Given the description of an element on the screen output the (x, y) to click on. 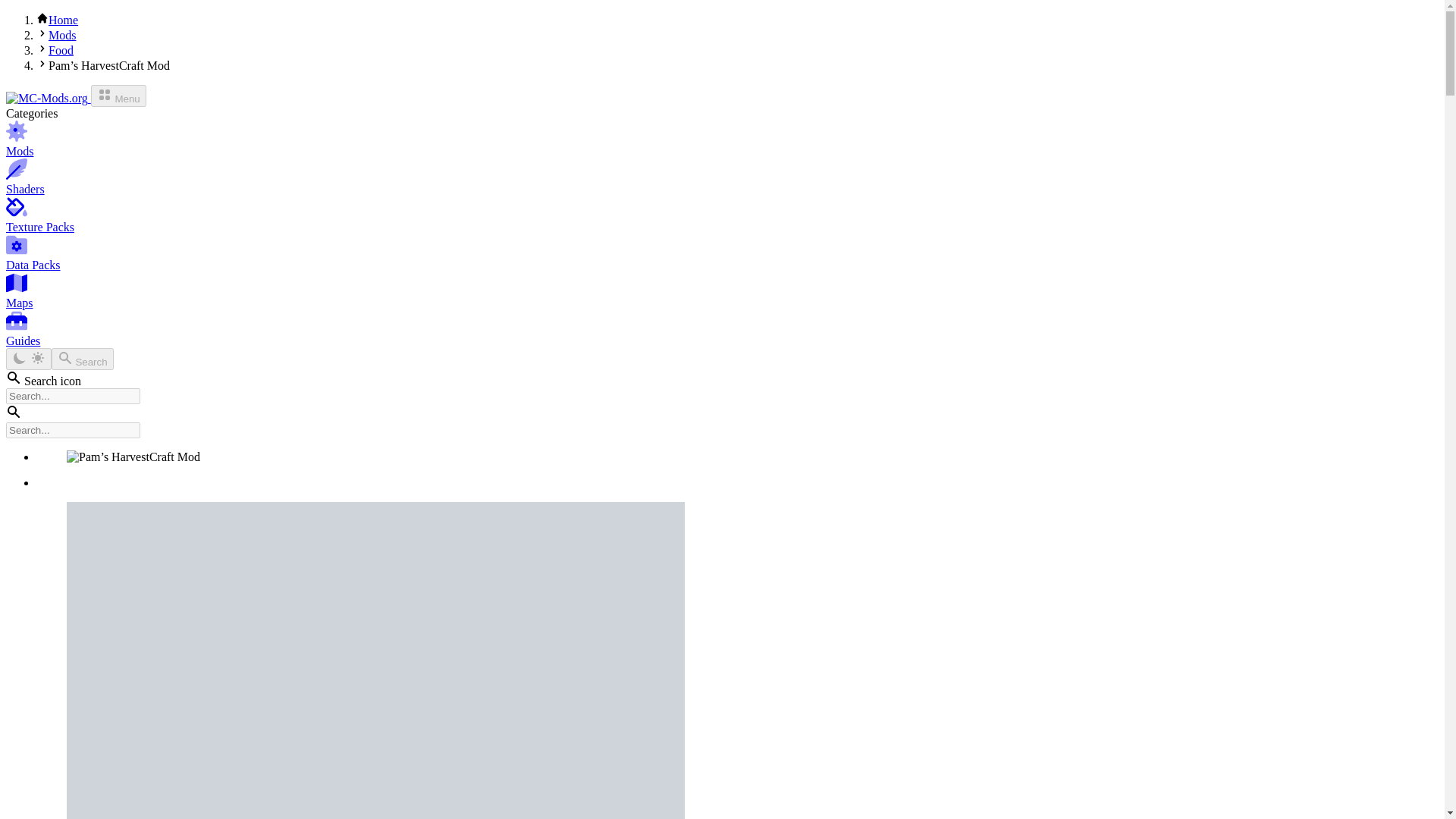
Food (61, 50)
Mods (61, 34)
Search (81, 359)
Home (63, 19)
MC-Mods.org (47, 97)
Menu (118, 96)
